Given the description of an element on the screen output the (x, y) to click on. 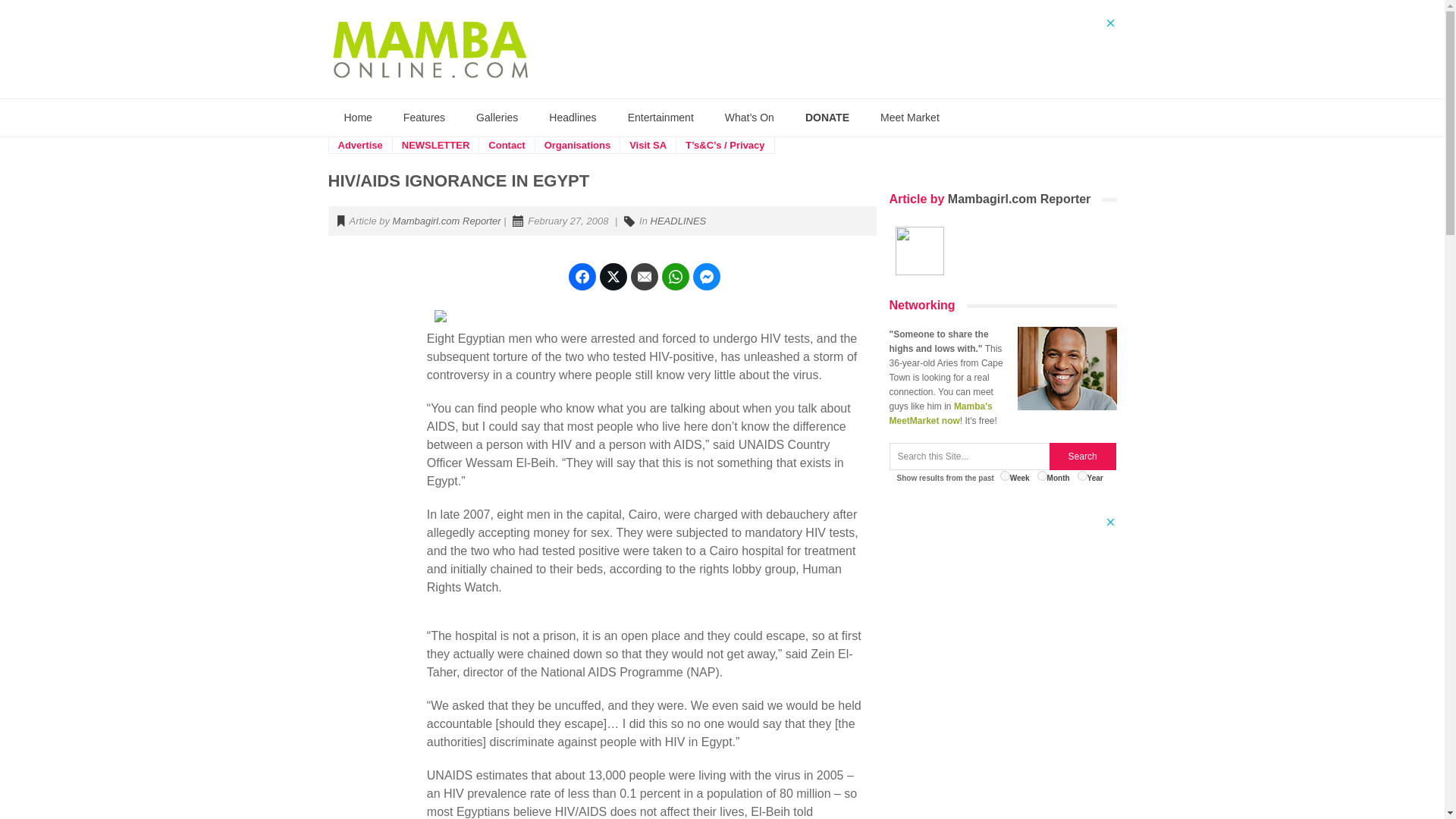
3rd party ad content (840, 50)
Share on Twitter (613, 276)
Mambagirl.com Reporter (446, 220)
Share on Facebook (582, 276)
Share on Email (644, 276)
year (1082, 475)
Meet Market (909, 117)
month (1041, 475)
Share on Facebook Messenger (706, 276)
Search (1082, 456)
DONATE (827, 117)
Posts by Mambagirl.com Reporter (446, 220)
Home (358, 117)
Mambagirl.com Reporter (1018, 198)
Features (424, 117)
